Given the description of an element on the screen output the (x, y) to click on. 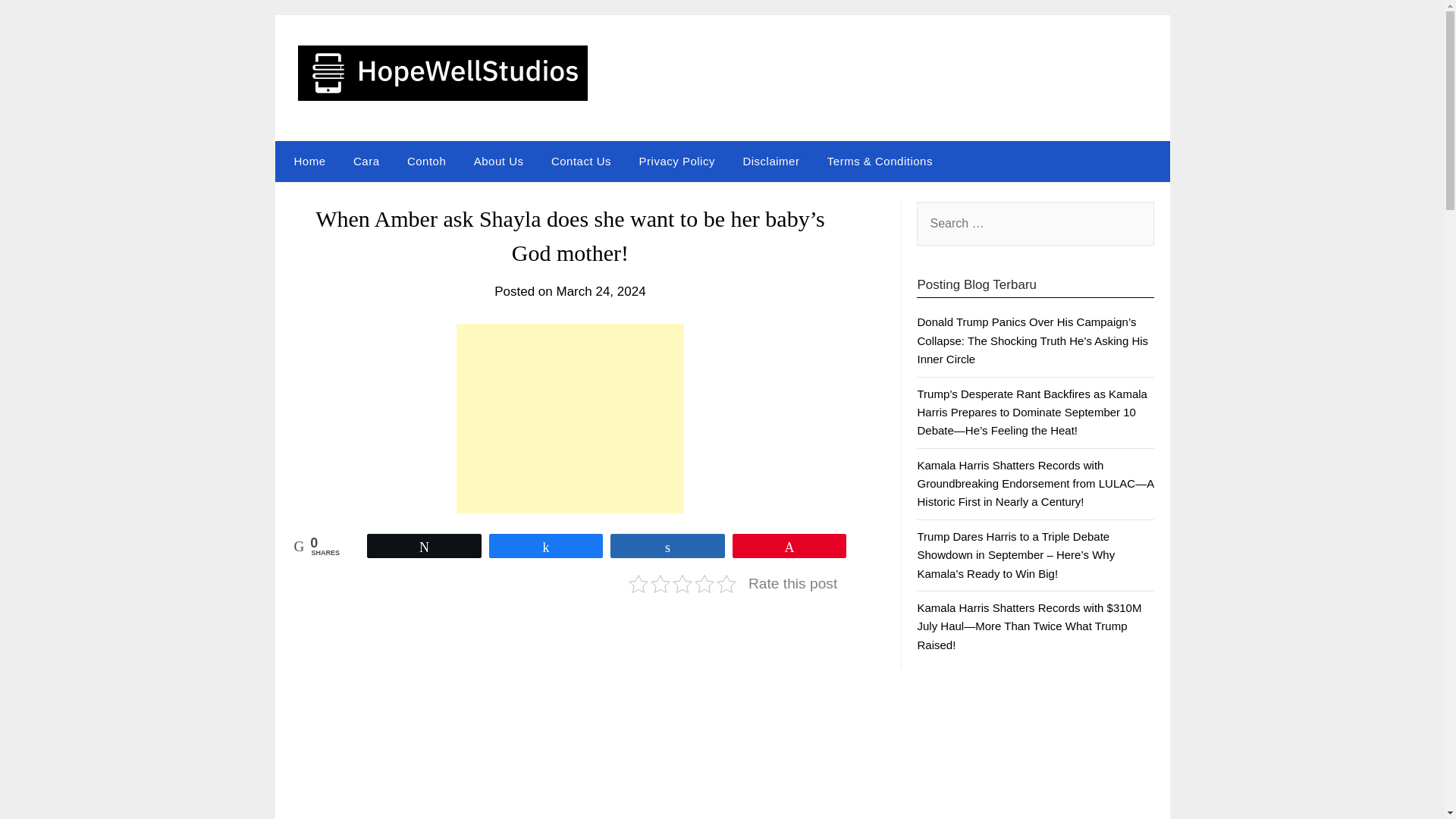
Privacy Policy (676, 160)
Cara (365, 160)
Home (306, 160)
Contact Us (580, 160)
Search (38, 22)
Advertisement (570, 418)
Disclaimer (770, 160)
Contoh (426, 160)
About Us (498, 160)
